Given the description of an element on the screen output the (x, y) to click on. 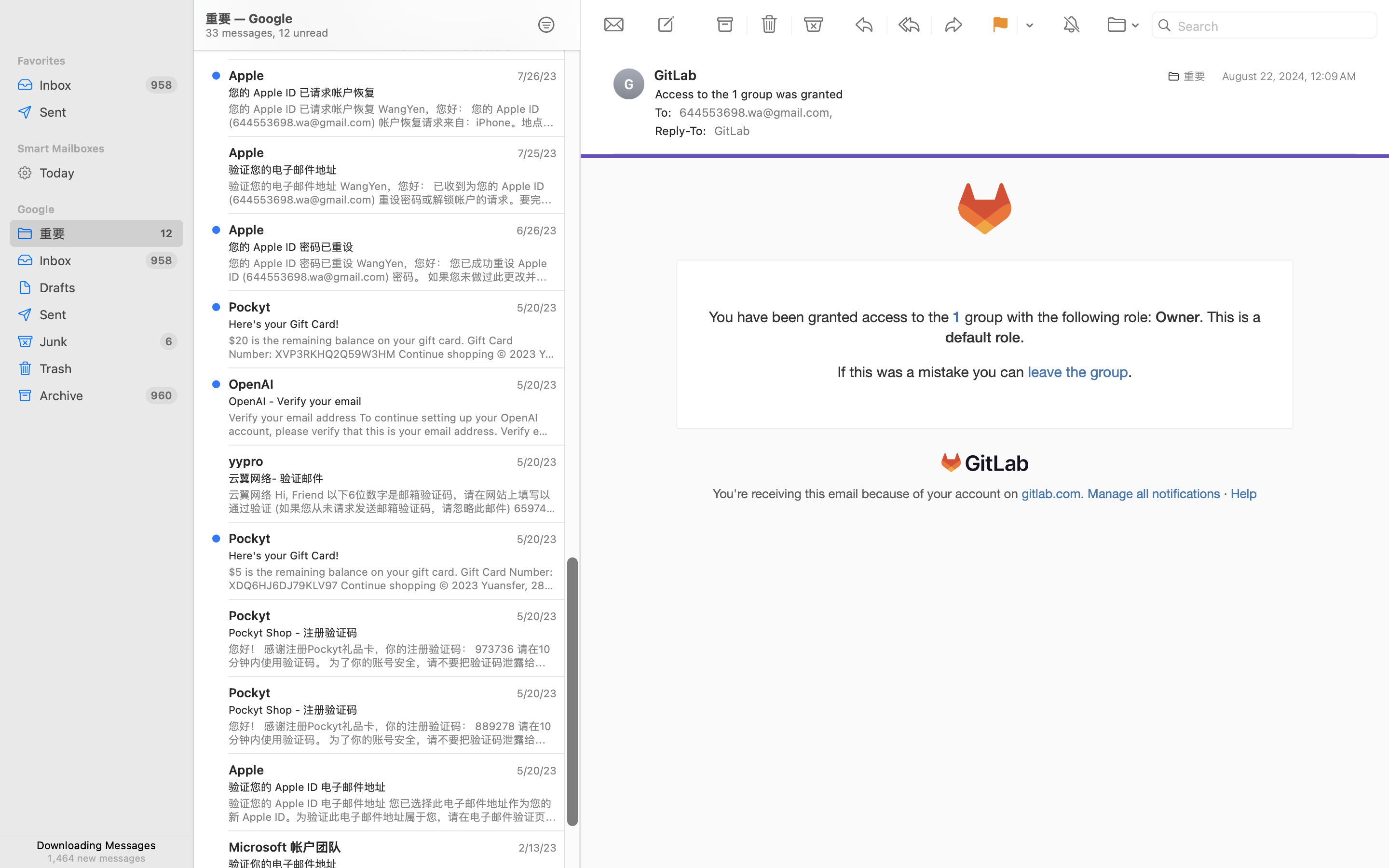
您的 Apple ID 已请求帐户恢复 WangYen，您好： 您的 Apple ID (644553698.wa@gmail.com) 帐户恢复请求来自：iPhone。地点大概位置：Tianjin, TJ。提出时间：2023年7月25日下午12:16:33 GMT+8。提供的联系电话号码：+86 159 0032 4640。 当您的帐户于2023年8月8日下午12:16:33 GMT+8 准备好进行恢复时，此电话号码将会收到短信或语音来电。有关帐户的最新状态，或者您想提供更多信息以帮助帐户恢复，请访问 https://iforgot.apple.com 如果您没有提出此请求，或者对上述信息不知情，您需要立即取消帐户恢复以保证帐户安全。 此致 Apple 支持 Apple ID | 支持 | 隐私政策 Copyright © 2023 One Apple Park Way, Cupertino, CA 95014, United States‎ 保留所有权利。 Element type: AXStaticText (392, 115)
